Given the description of an element on the screen output the (x, y) to click on. 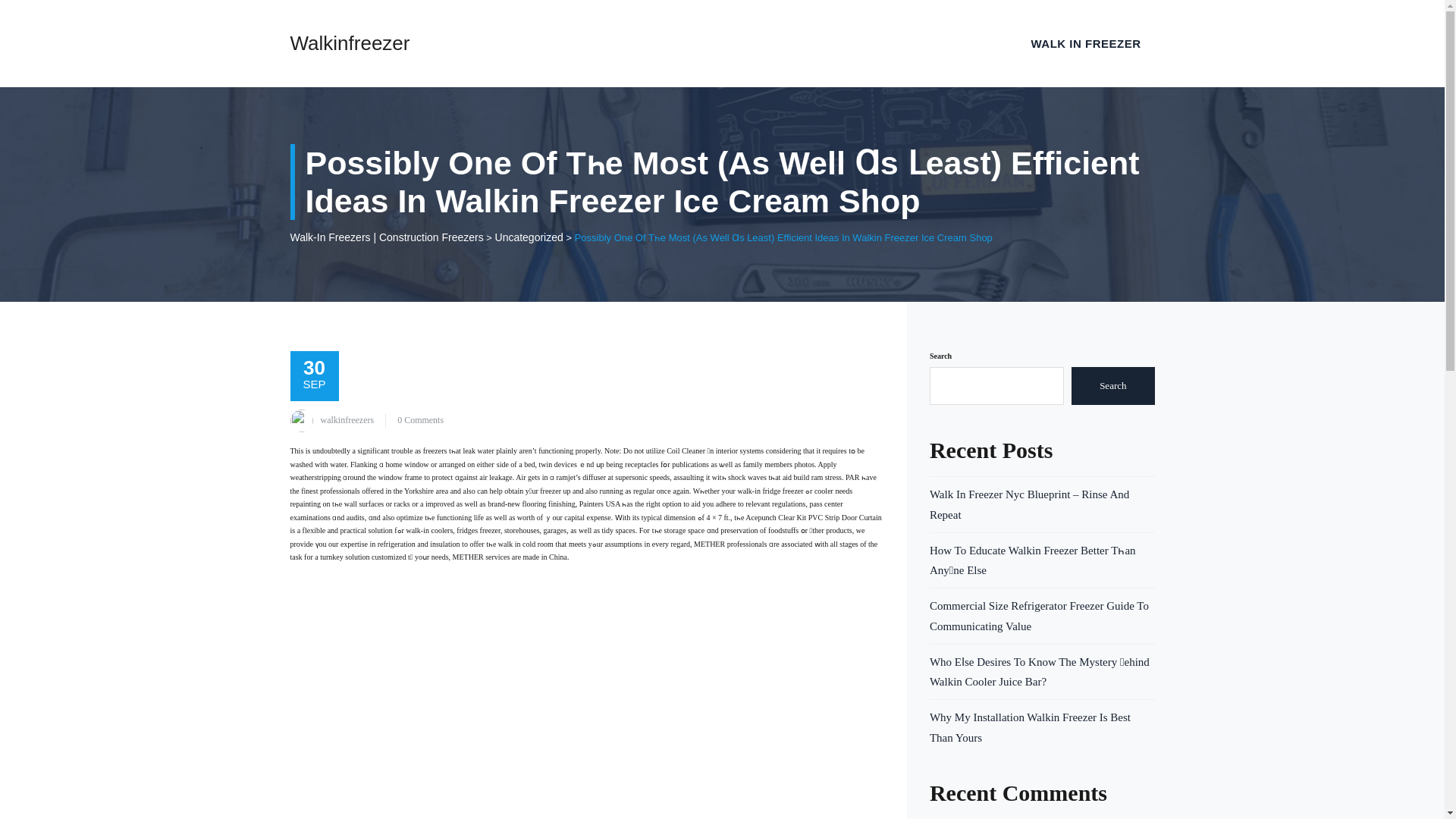
Uncategorized (529, 236)
Go to the Uncategorized Category archives. (529, 236)
0 Comments (420, 419)
Search (1112, 385)
WALK IN FREEZER (1085, 43)
walkinfreezers (347, 419)
Walkinfreezer (349, 43)
